Given the description of an element on the screen output the (x, y) to click on. 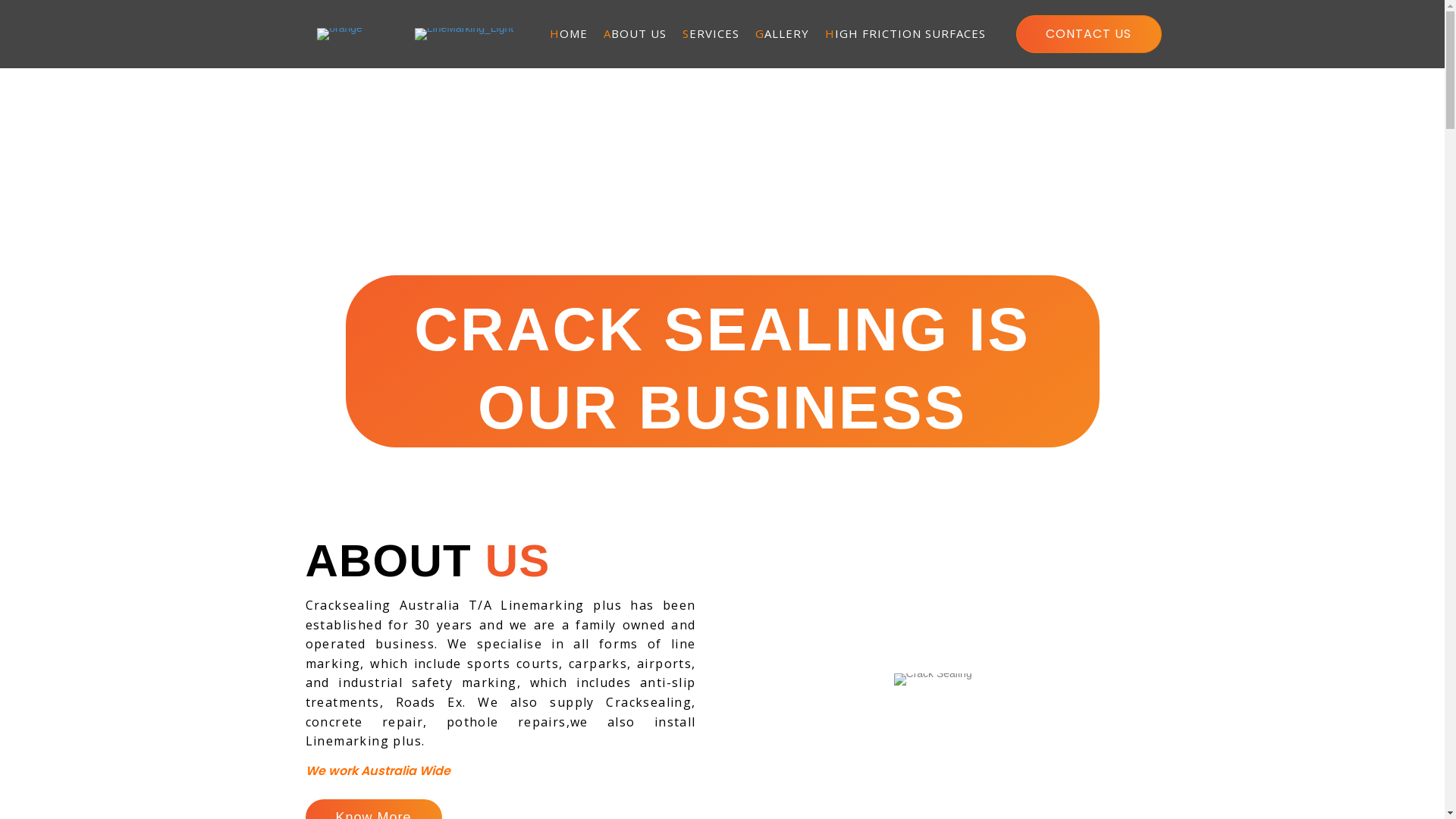
LineMarking_Light Element type: hover (463, 34)
HOME Element type: text (568, 34)
SERVICES Element type: text (710, 34)
fric B1 Element type: hover (933, 679)
GALLERY Element type: text (781, 34)
orange Element type: hover (339, 34)
CONTACT US Element type: text (1088, 34)
HIGH FRICTION SURFACES Element type: text (905, 34)
ABOUT US Element type: text (635, 34)
